Given the description of an element on the screen output the (x, y) to click on. 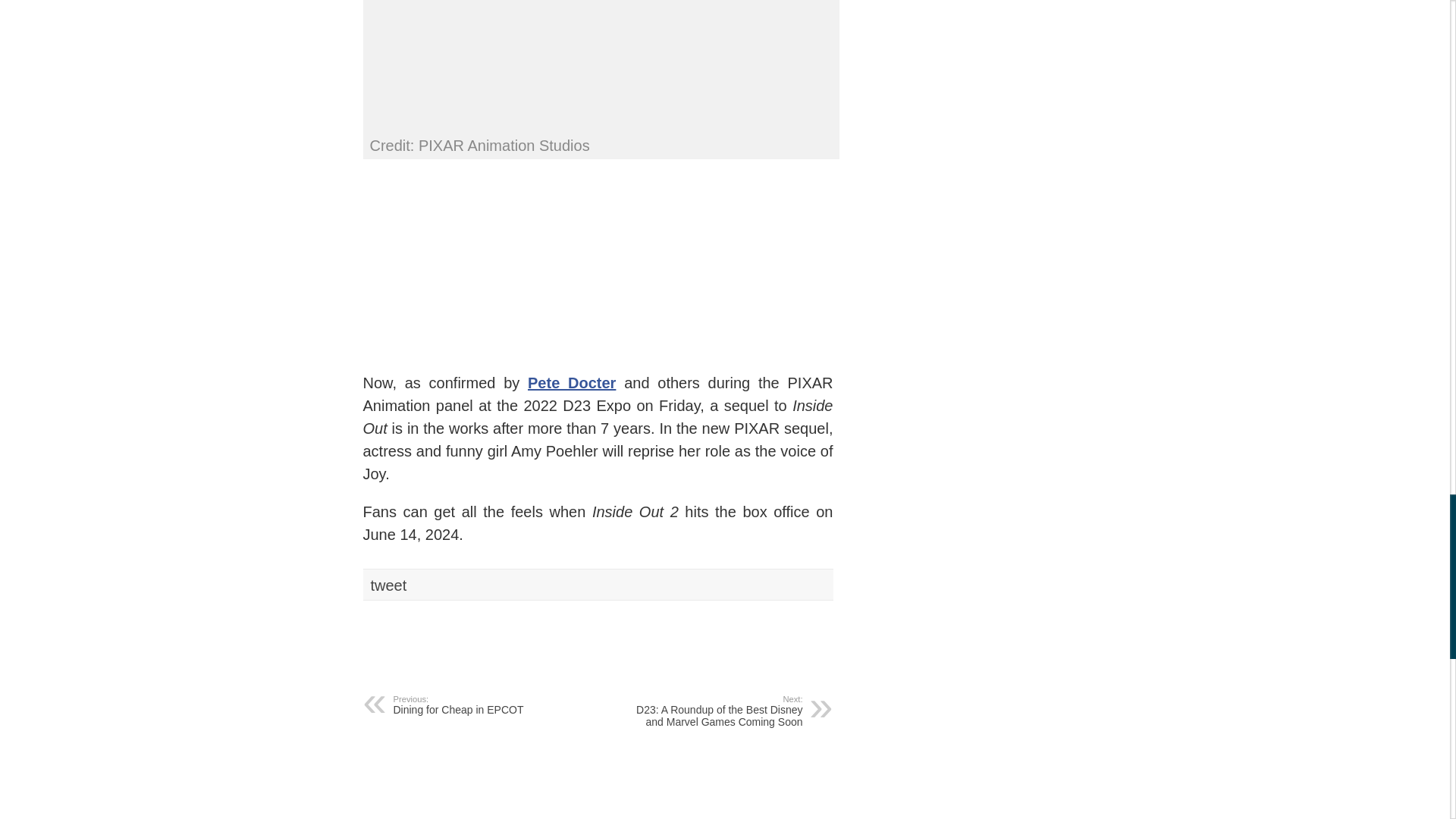
Pin It (563, 634)
Pete Docter (571, 382)
tweet (485, 704)
